Given the description of an element on the screen output the (x, y) to click on. 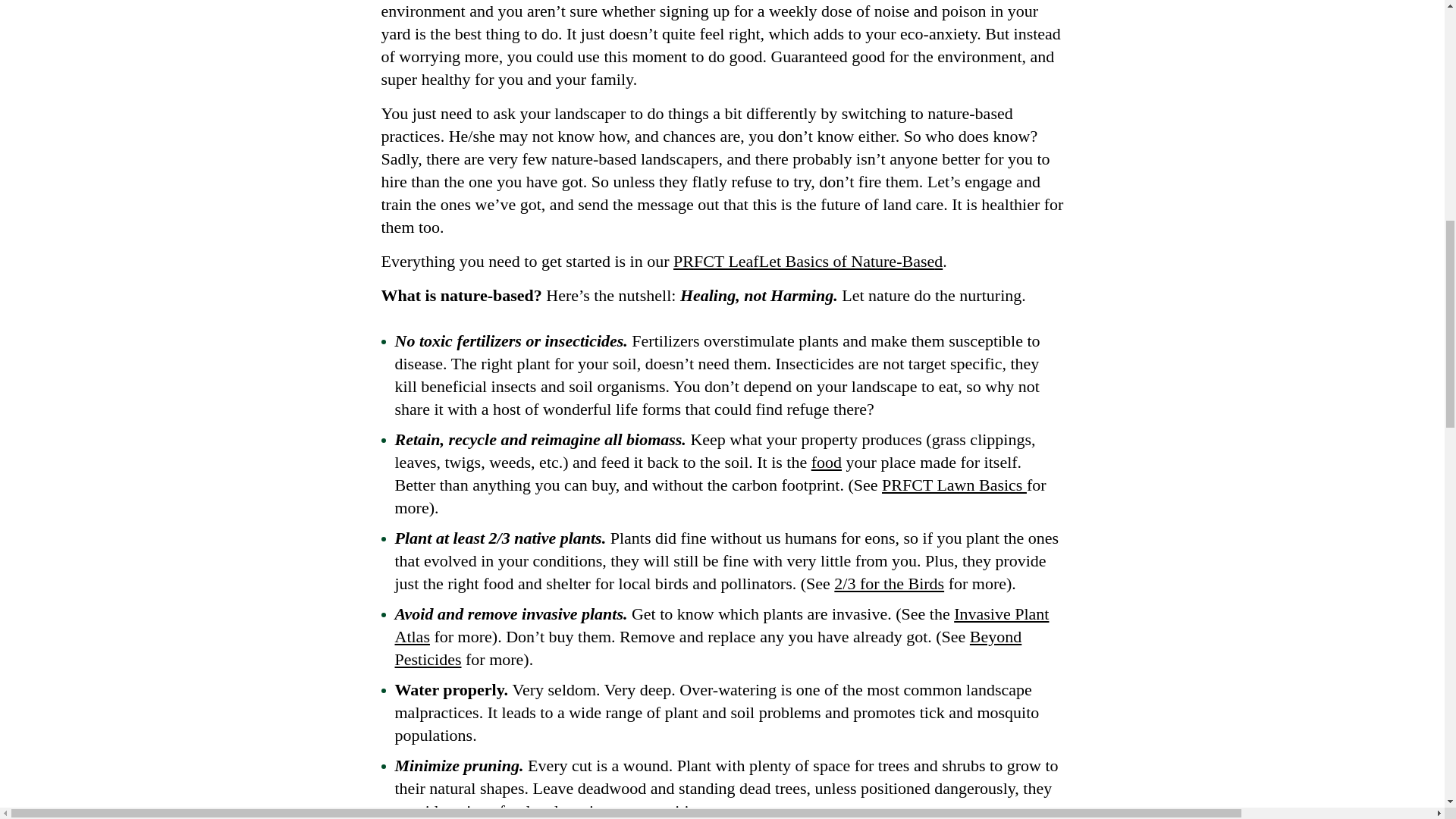
PRFCT Lawn Basics  (954, 484)
PR (683, 261)
FCT LeafLet Basics of Nature-Base (814, 261)
food (825, 461)
